Given the description of an element on the screen output the (x, y) to click on. 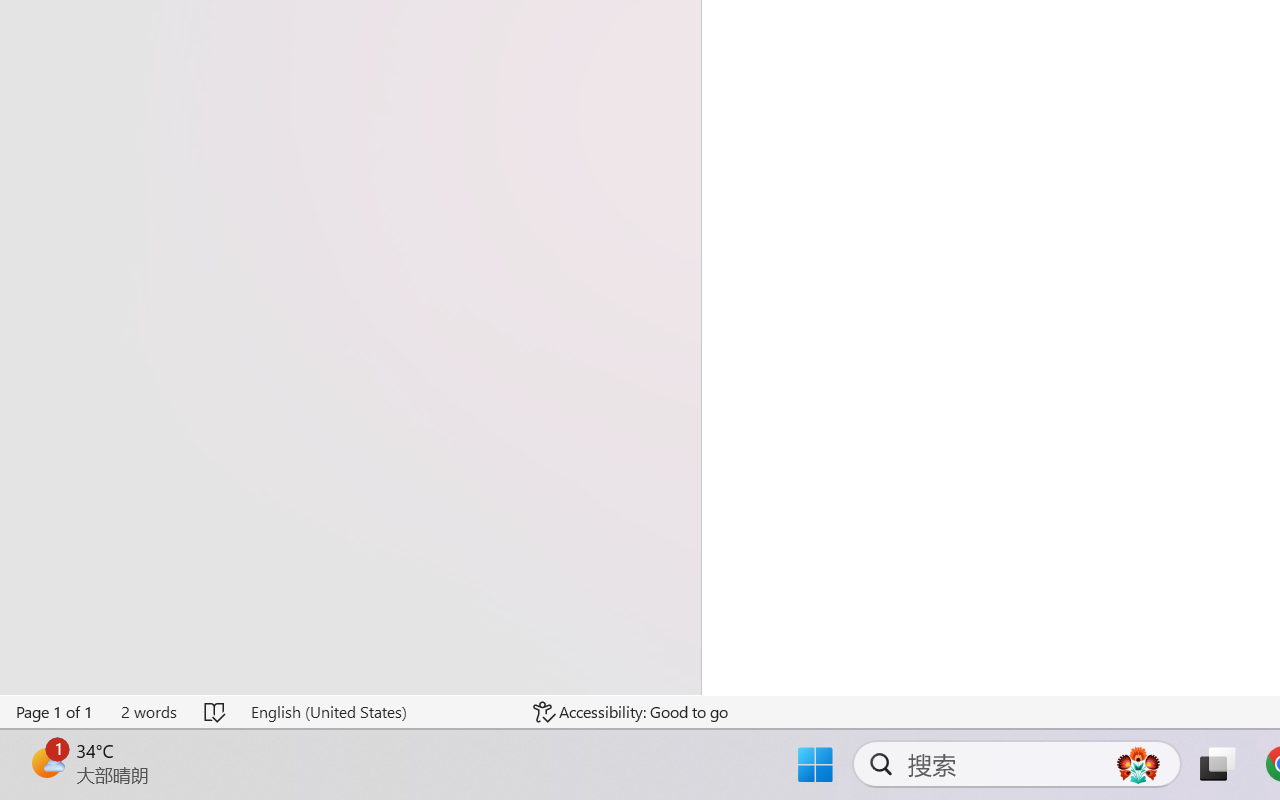
Microsoft Edge - 1 running window (411, 777)
